Given the description of an element on the screen output the (x, y) to click on. 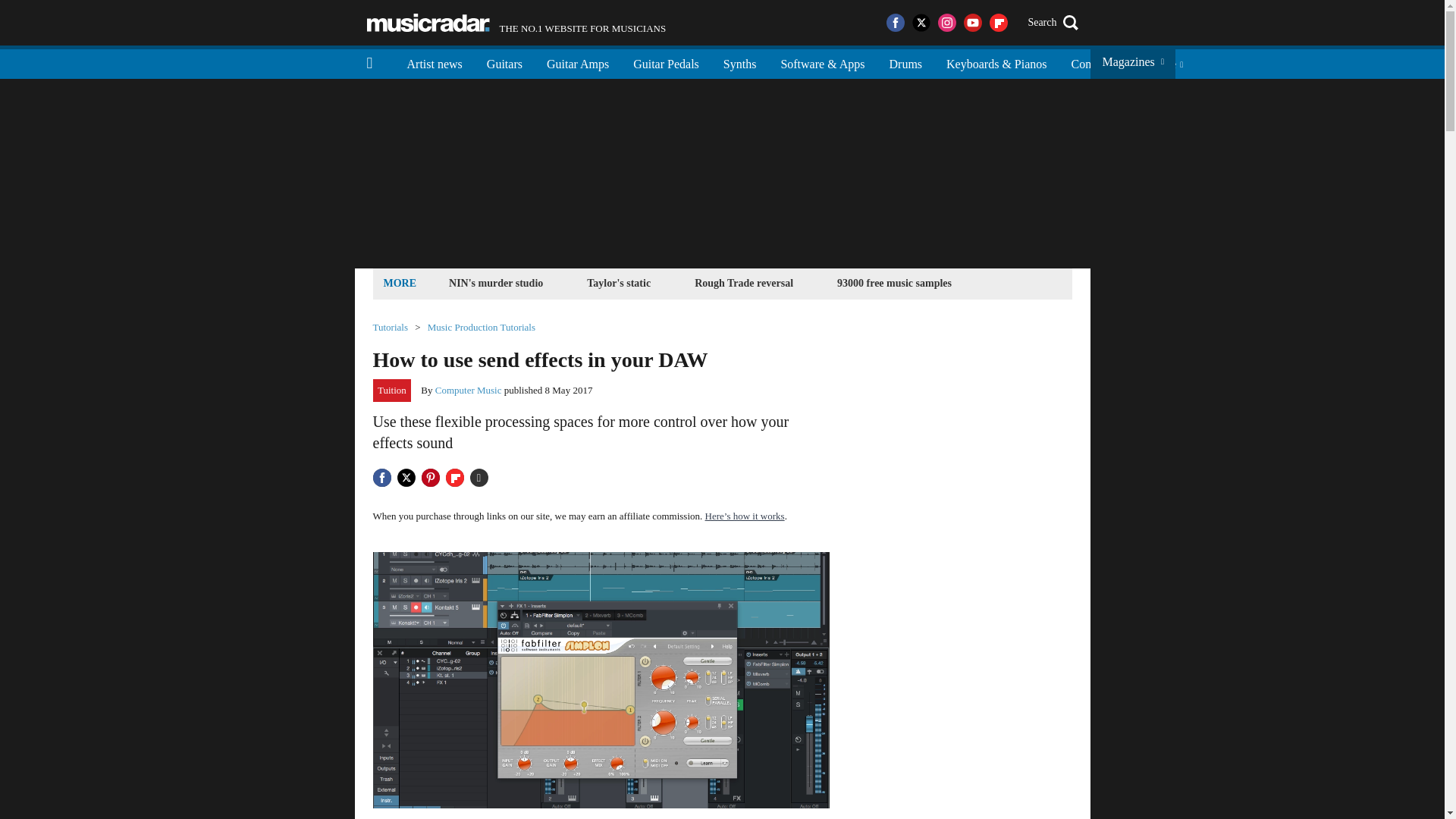
Taylor's static (618, 282)
Rough Trade reversal (742, 282)
Music Radar (516, 22)
Drums (427, 22)
Guitar Pedals (905, 61)
NIN's murder studio (666, 61)
Artist news (496, 282)
93000 free music samples (434, 61)
Guitars (893, 282)
